Given the description of an element on the screen output the (x, y) to click on. 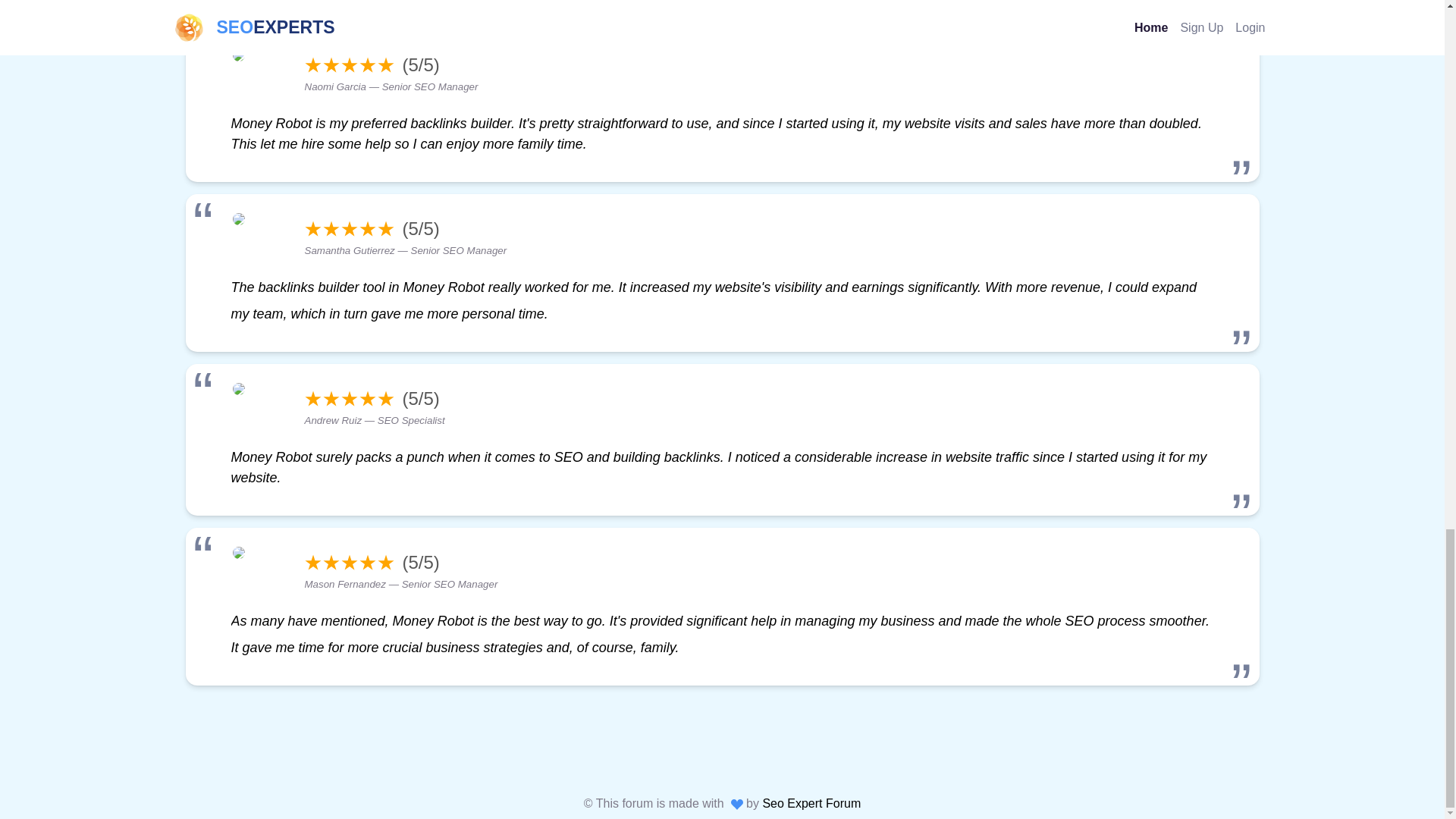
Seo Expert Forum (810, 802)
